Given the description of an element on the screen output the (x, y) to click on. 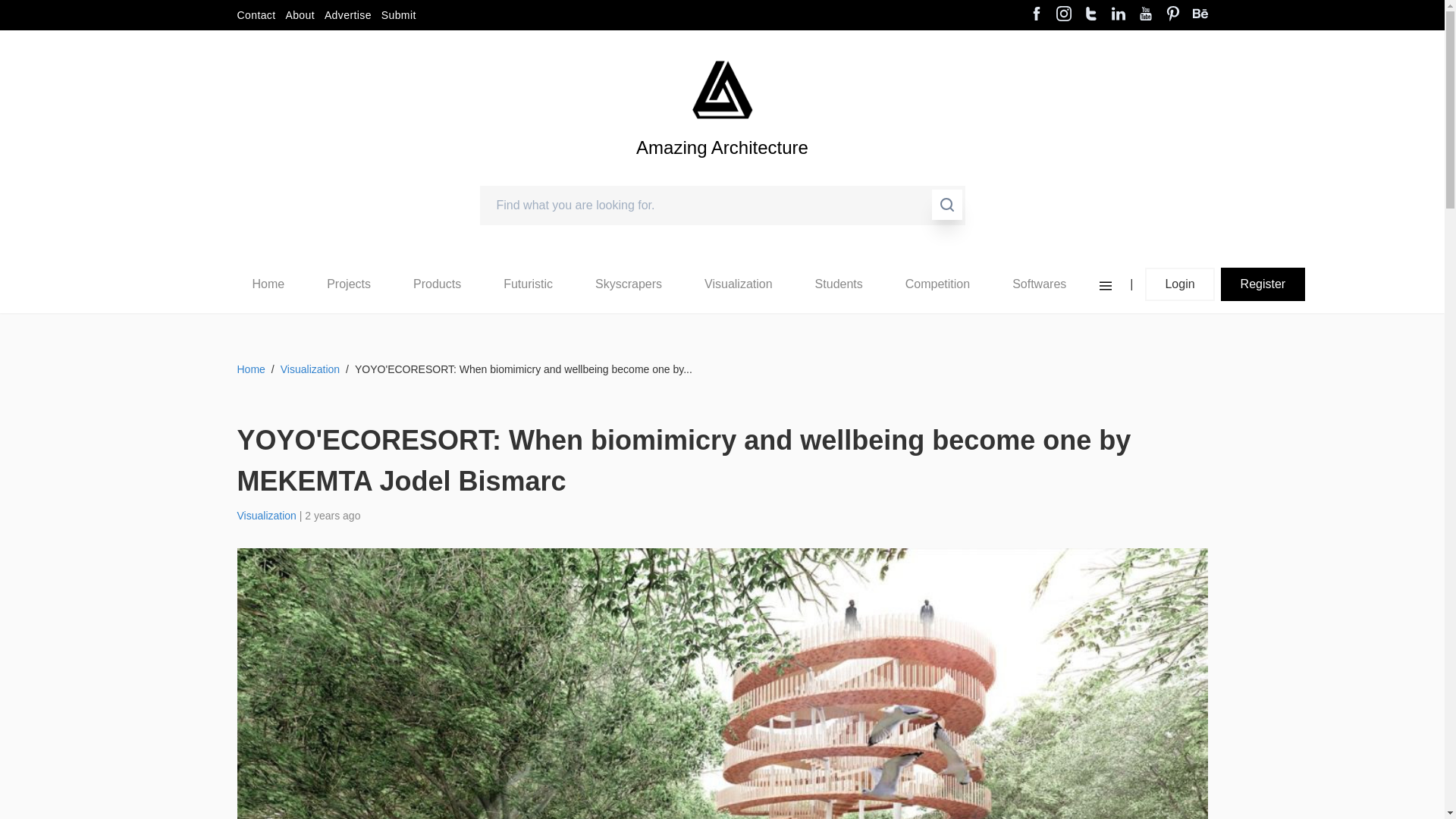
Home (267, 284)
Products (437, 283)
Submit page (398, 15)
Advertisement page (347, 15)
follow us on pinterest (1171, 14)
facebook page (1035, 14)
Advertise (347, 15)
follow us on twitter (1090, 14)
Home (267, 283)
Contact us page (255, 15)
Amazing Architecture (721, 88)
Amazing Architecture (722, 173)
subscribe to our youtube channel (1145, 14)
Home (267, 283)
Projects (348, 283)
